Given the description of an element on the screen output the (x, y) to click on. 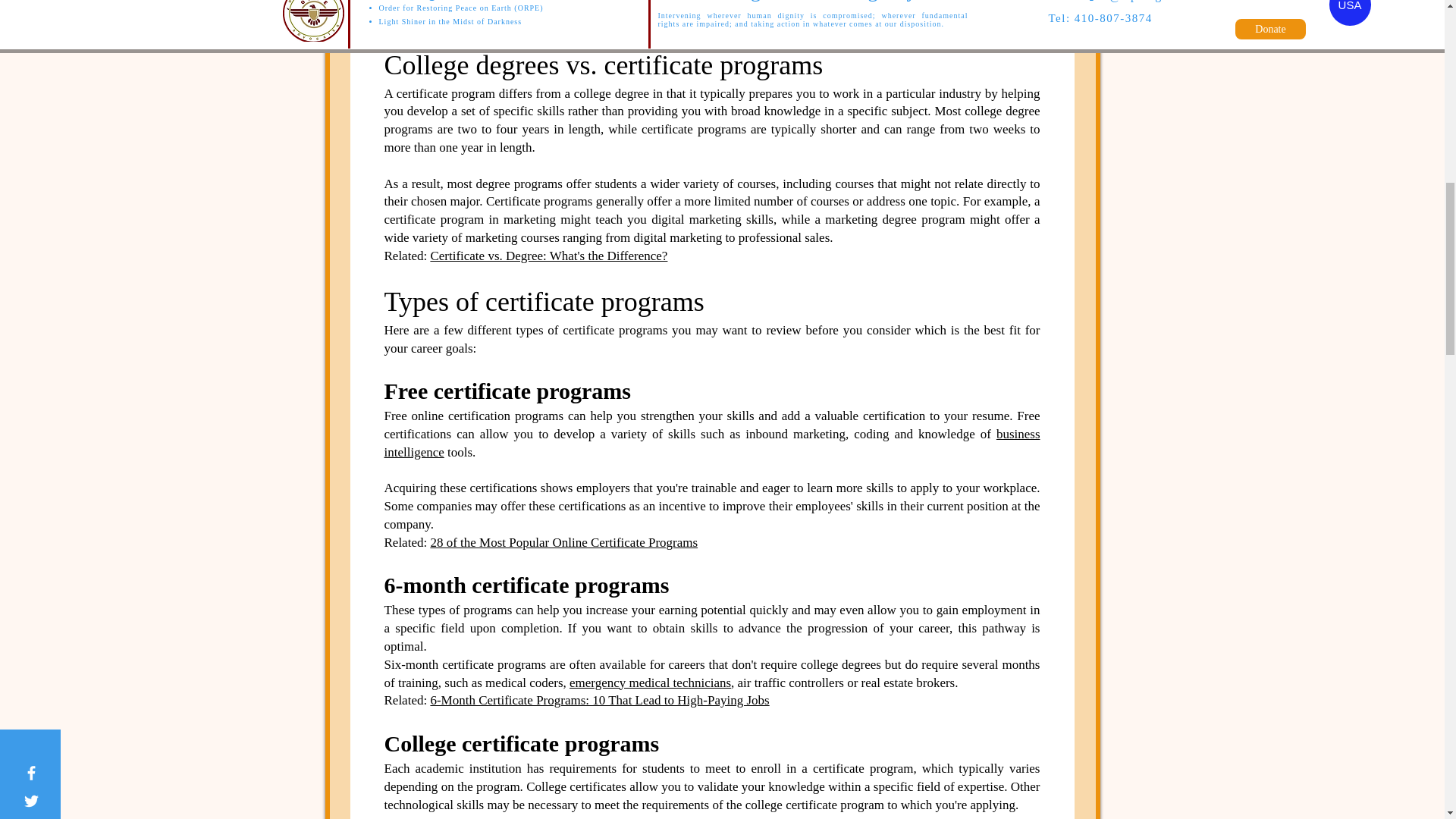
28 of the Most Popular Online Certificate Programs (563, 542)
emergency medical technicians (649, 682)
business intelligence (711, 442)
Certificate vs. Degree: What's the Difference? (547, 255)
Types of Certificate Programs for Different Career Paths (575, 19)
